Given the description of an element on the screen output the (x, y) to click on. 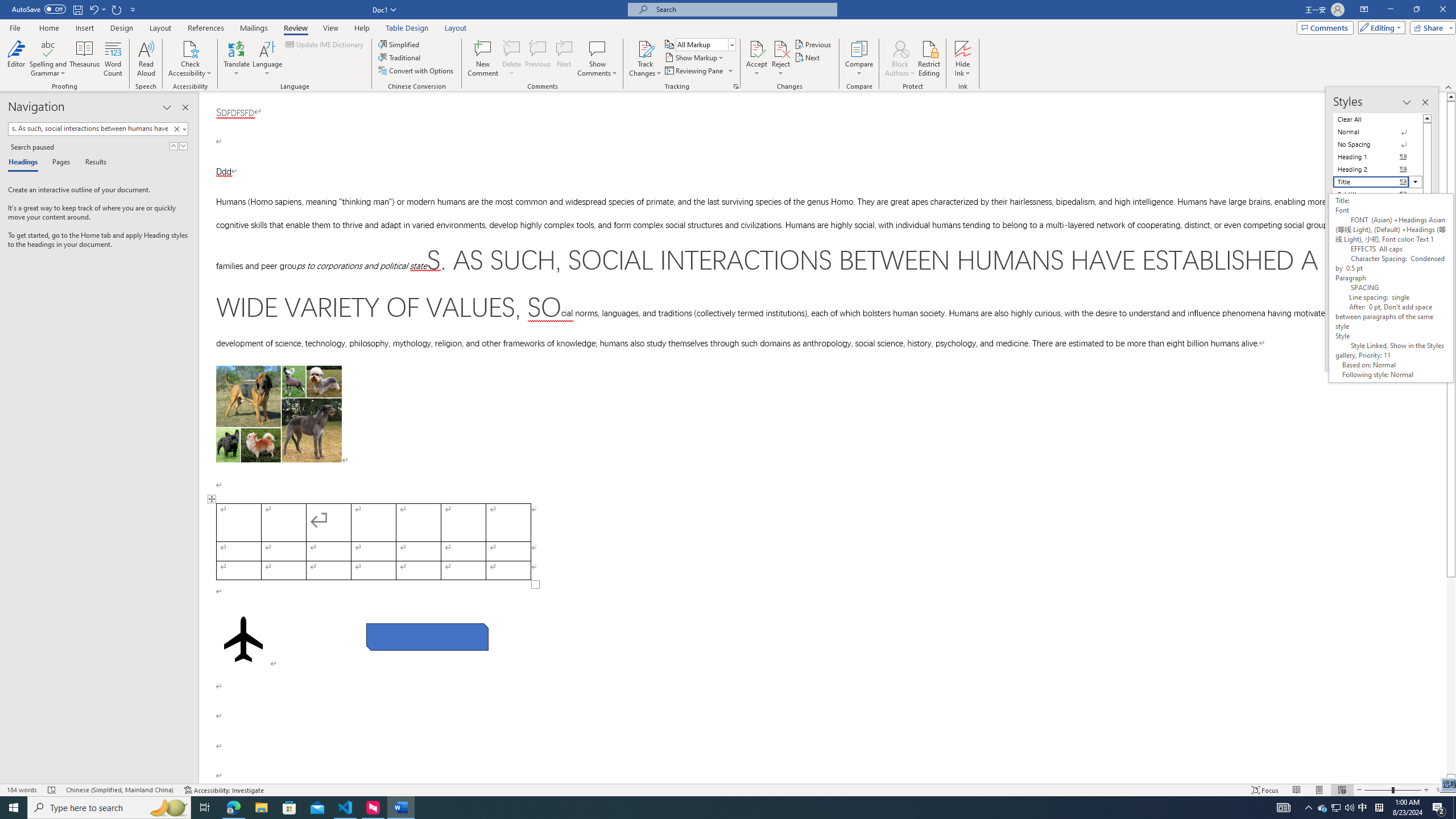
Line up (1450, 96)
Rectangle: Diagonal Corners Snipped 2 (427, 636)
Page down (1450, 675)
Compare (859, 58)
Options... (1412, 354)
Accept (756, 58)
Normal (1377, 131)
